Given the description of an element on the screen output the (x, y) to click on. 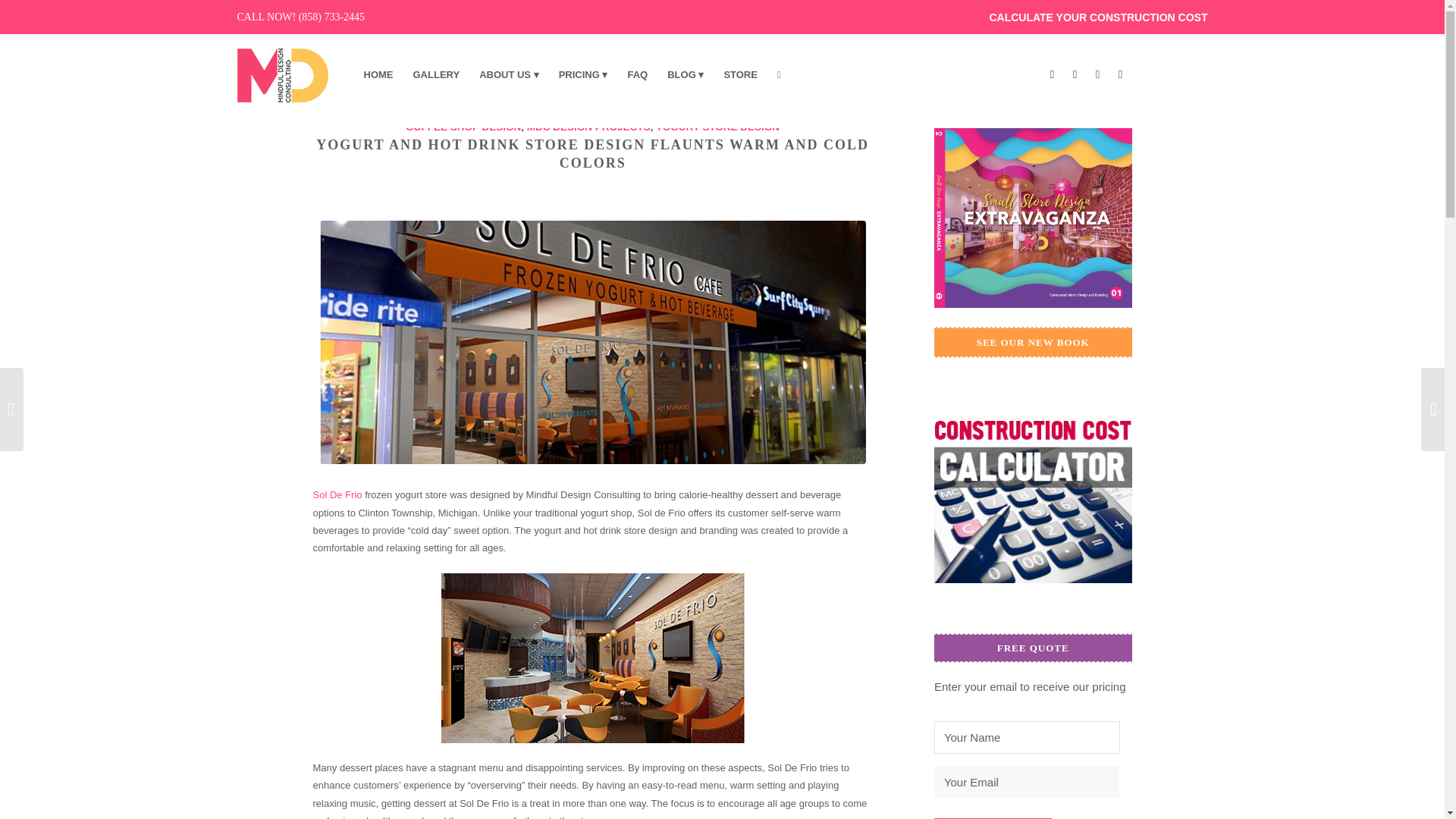
COFFEE SHOP DESIGN (463, 126)
Facebook (1051, 73)
LinkedIn (1074, 73)
Pinterest (1097, 73)
ABOUT US (508, 75)
CALCULATE YOUR CONSTRUCTION COST (1096, 17)
Frozen-Yogurt-Hot-Drinks-Shop-Design (593, 342)
Sol De Frio (337, 494)
MDC DESIGN PROJECTS (588, 126)
YOGURT STORE DESIGN (717, 126)
Instagram (1119, 73)
